Given the description of an element on the screen output the (x, y) to click on. 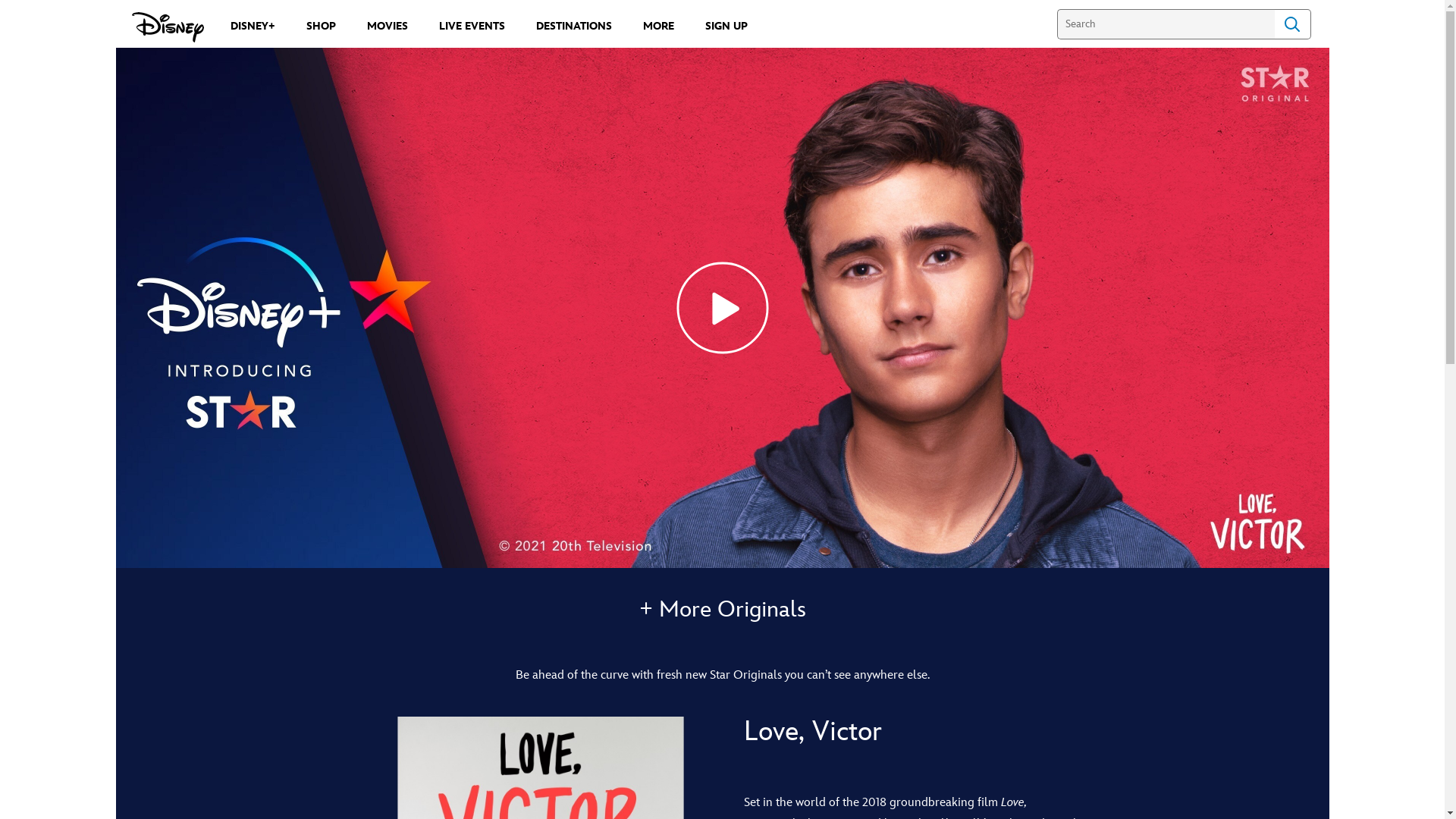
DISNEY+ Element type: text (252, 25)
MORE Element type: text (658, 25)
SHOP Element type: text (321, 25)
LIVE EVENTS Element type: text (471, 25)
Search Element type: text (1292, 24)
DESTINATIONS Element type: text (573, 25)
MOVIES Element type: text (387, 25)
SIGN UP Element type: text (726, 25)
